Given the description of an element on the screen output the (x, y) to click on. 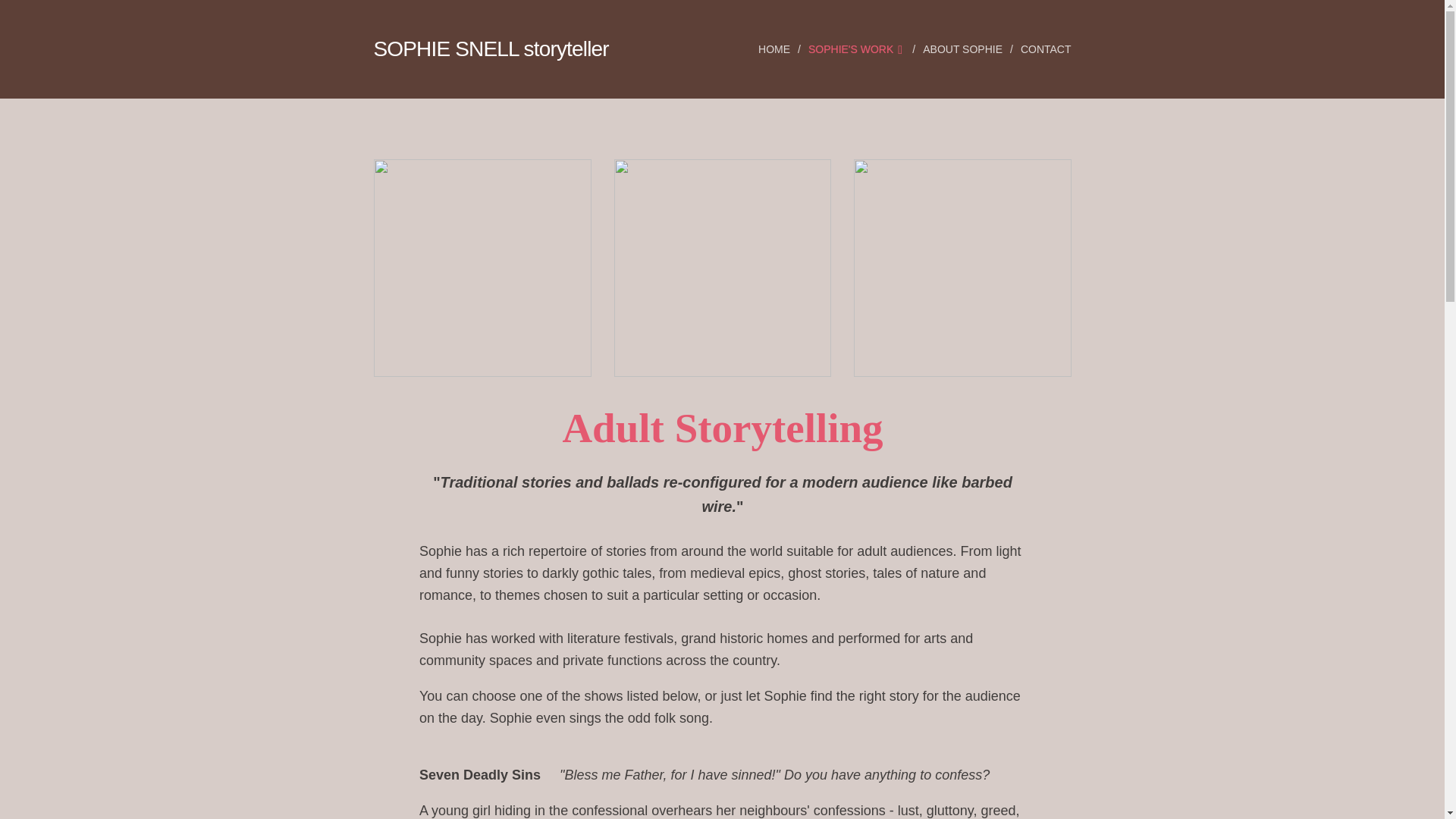
HOME (777, 48)
CONTACT (1042, 48)
ABOUT SOPHIE (964, 48)
SOPHIE SNELL storyteller (490, 49)
SOPHIE'S WORK (857, 48)
